Given the description of an element on the screen output the (x, y) to click on. 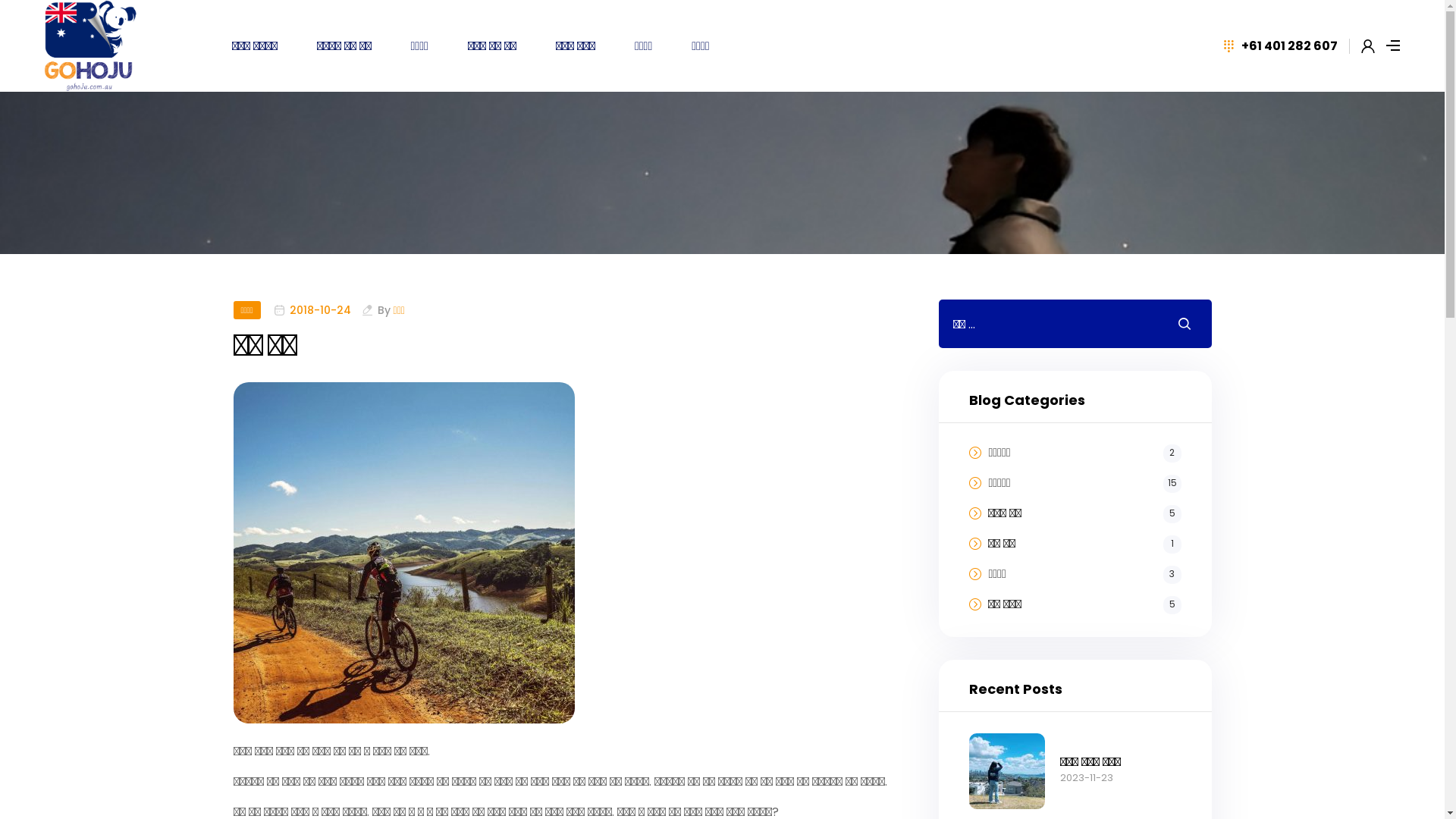
+61 401 282 607 Element type: text (1279, 46)
2018-10-24 Element type: text (320, 309)
